Given the description of an element on the screen output the (x, y) to click on. 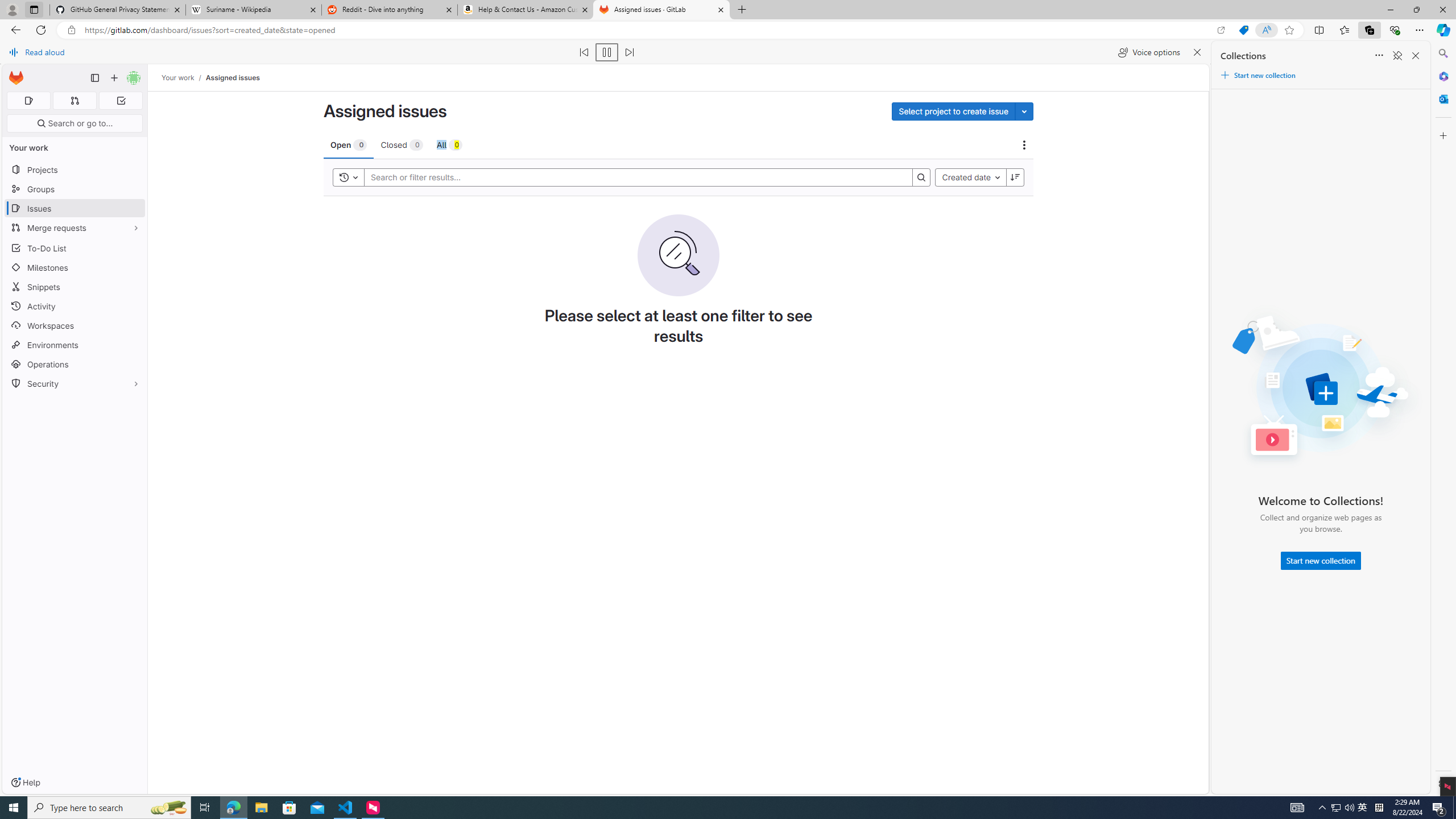
Sort direction: Descending (1015, 176)
Projects (74, 169)
All 0 (449, 144)
Activity (74, 305)
Your work (178, 77)
Groups (74, 188)
